Given the description of an element on the screen output the (x, y) to click on. 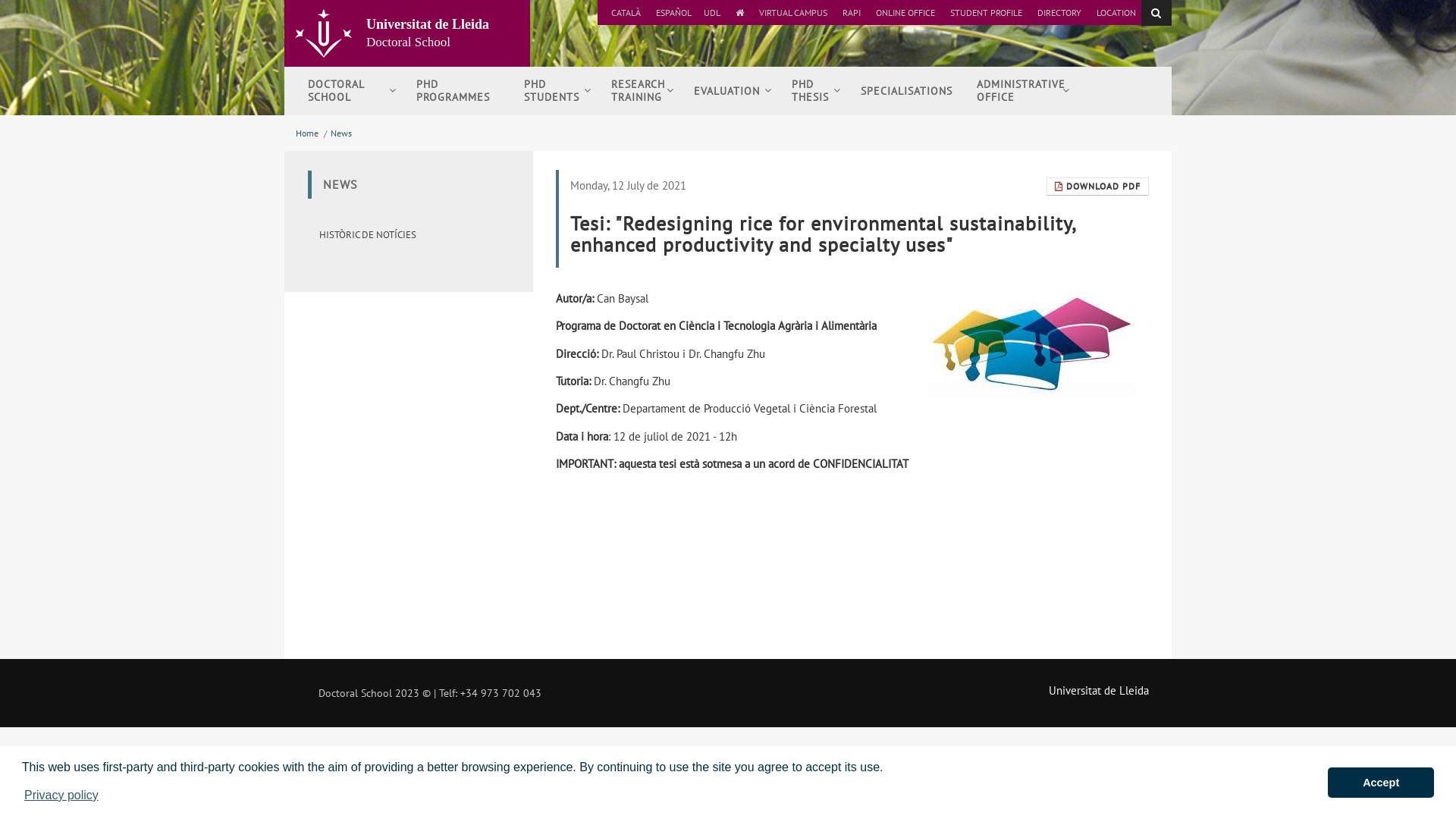
SPECIALISATIONS Element type: text (906, 90)
BirretsColors Element type: hover (1031, 342)
UDL Element type: text (711, 12)
LOCATION Element type: text (1116, 12)
ADMINISTRATIVE OFFICE
   Element type: text (1020, 90)
Universitat de Lleida
Doctoral School Element type: text (407, 33)
Home Element type: text (306, 132)
DOCTORAL SCHOOL
   Element type: text (349, 90)
Search Element type: hover (1156, 12)
STUDENT PROFILE Element type: text (986, 12)
Accept Element type: text (1380, 782)
ONLINE OFFICE Element type: text (905, 12)
RAPI Element type: text (851, 12)
PHD
THESIS
   Element type: text (813, 90)
GO HOME Element type: text (739, 12)
VIRTUAL CAMPUS Element type: text (793, 12)
NEWS Element type: text (340, 183)
DIRECTORY Element type: text (1059, 12)
RESEARCH
TRAINING
   Element type: text (640, 90)
EVALUATION
   Element type: text (730, 90)
Privacy policy Element type: text (60, 795)
News Element type: text (340, 132)
 DOWNLOAD PDF Element type: text (1097, 186)
PHD PROGRAMMES Element type: text (457, 90)
Universitat de Lleida Element type: text (1098, 690)
PHD
STUDENTS
   Element type: text (555, 90)
